Given the description of an element on the screen output the (x, y) to click on. 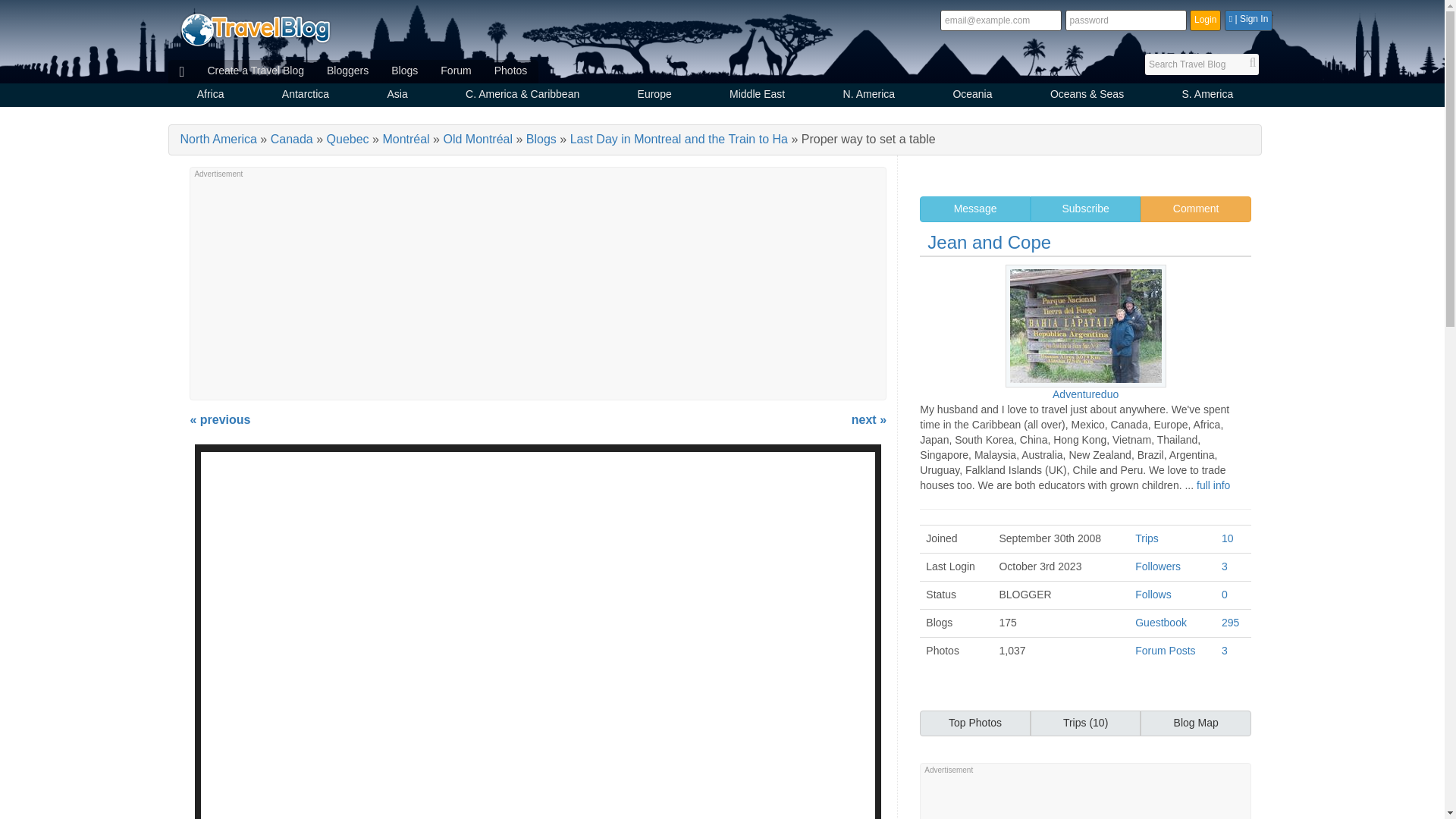
Forum (455, 71)
Sign in with Facebook (1248, 20)
Create a Travel Blog (255, 71)
Bloggers (347, 71)
Middle East (756, 95)
Login (1205, 20)
Blogs (404, 71)
Asia (397, 95)
S. America (1207, 95)
Europe (654, 95)
Login (1205, 20)
Oceania (972, 95)
Africa (210, 95)
Travel Blog (255, 29)
